Given the description of an element on the screen output the (x, y) to click on. 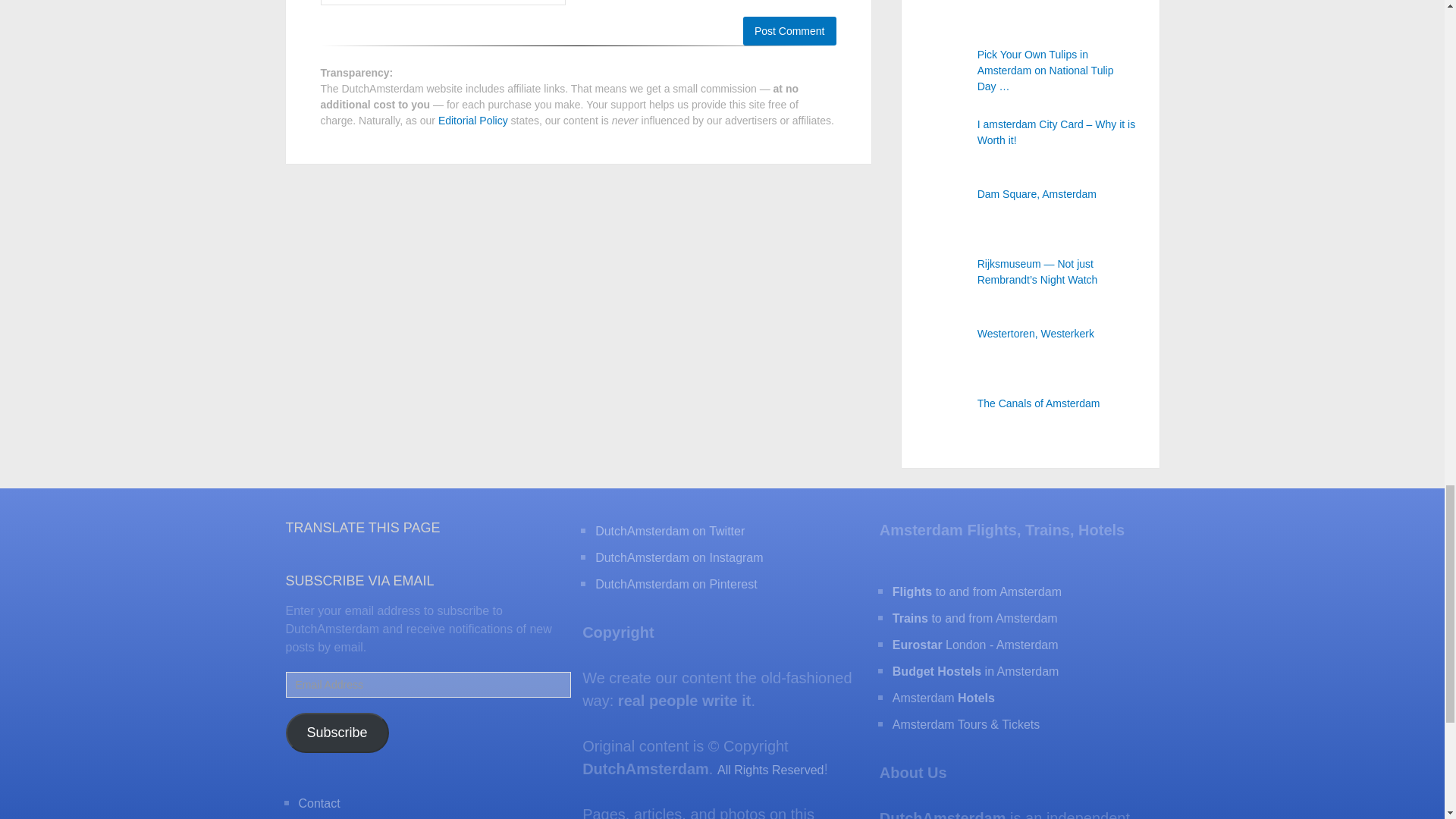
Post Comment (788, 30)
